Given the description of an element on the screen output the (x, y) to click on. 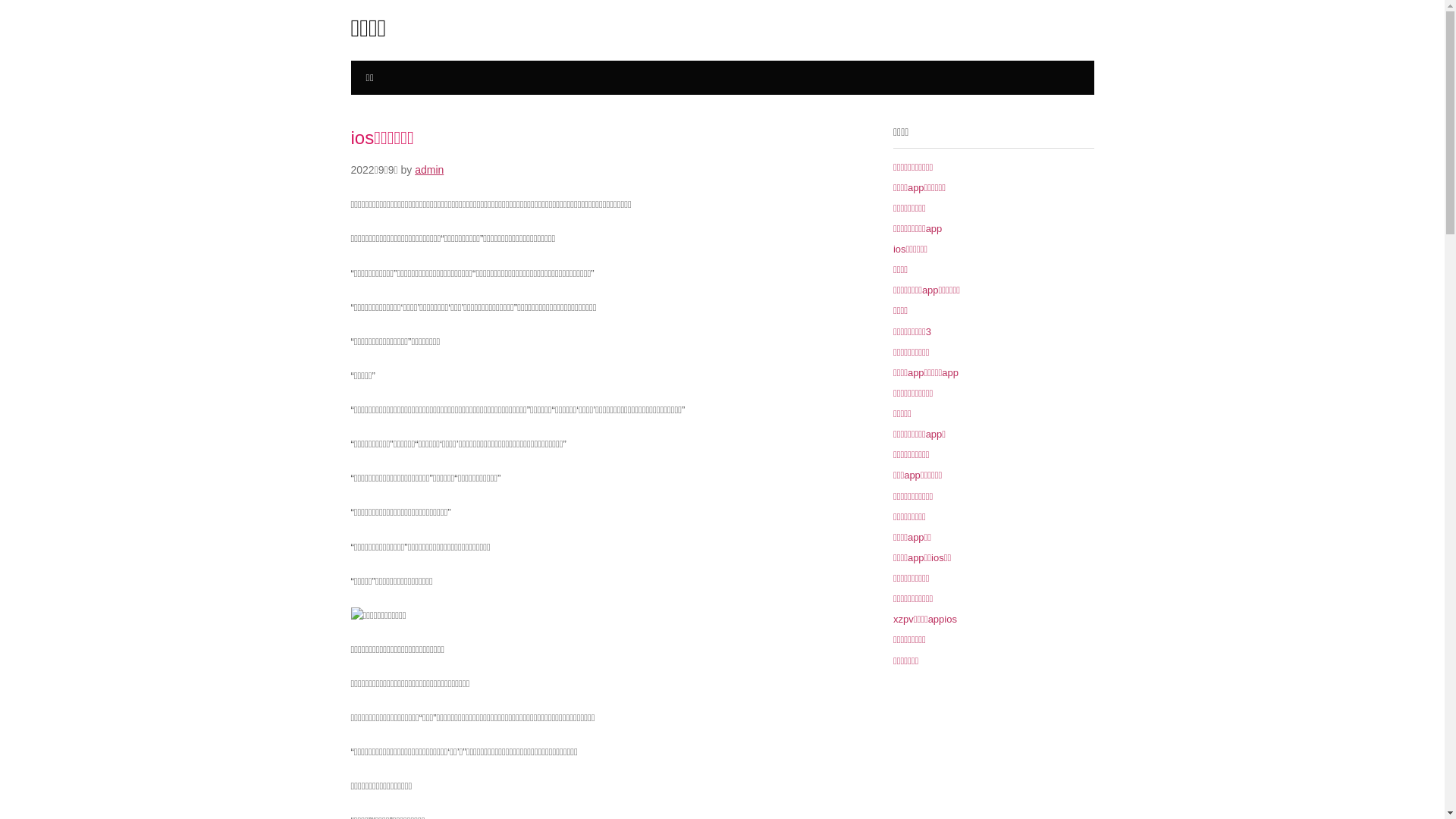
admin Element type: text (428, 169)
